Given the description of an element on the screen output the (x, y) to click on. 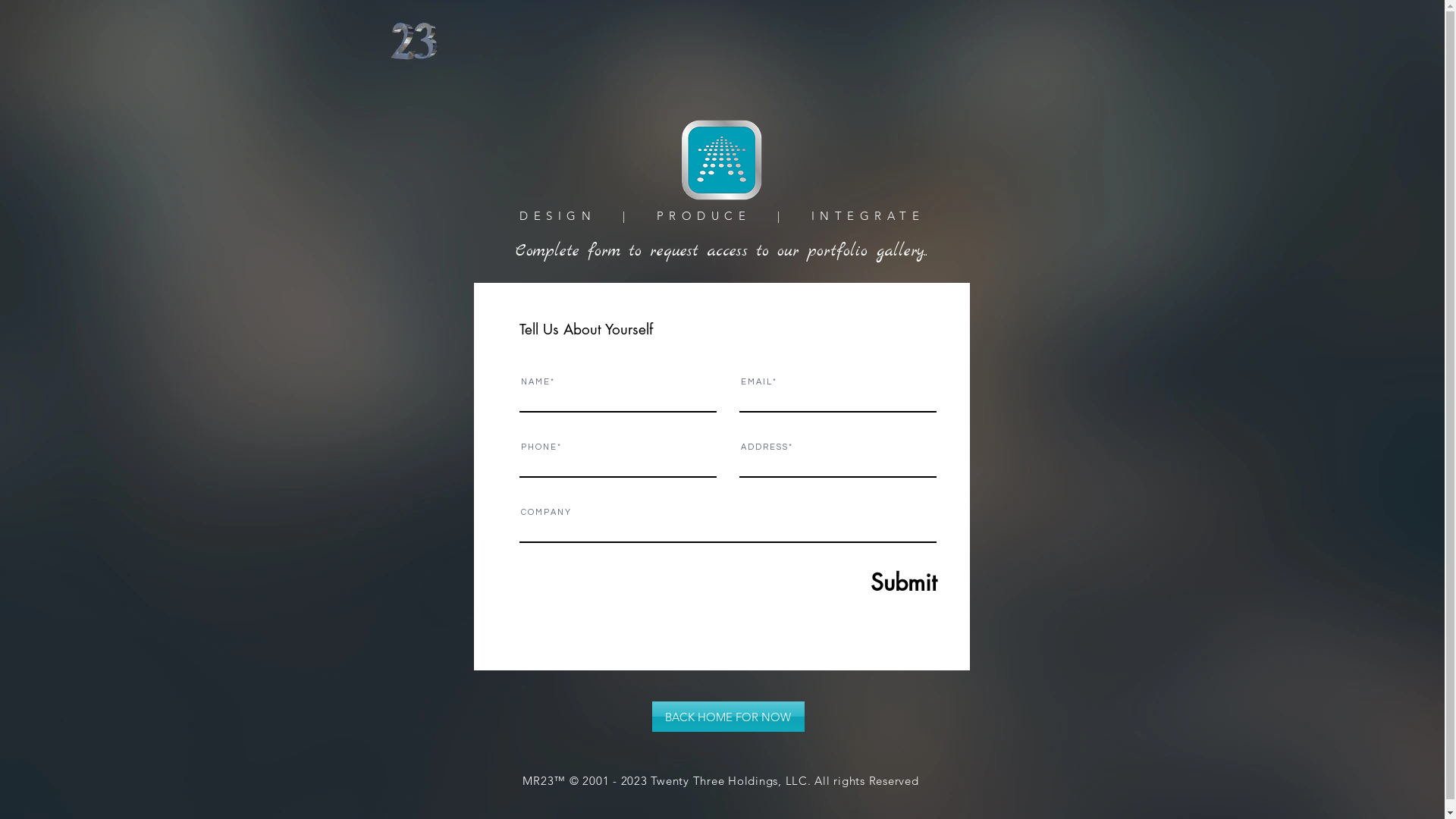
All rights Reserved Element type: text (866, 780)
BACK HOME FOR NOW Element type: text (728, 716)
Submit Element type: text (865, 581)
